Given the description of an element on the screen output the (x, y) to click on. 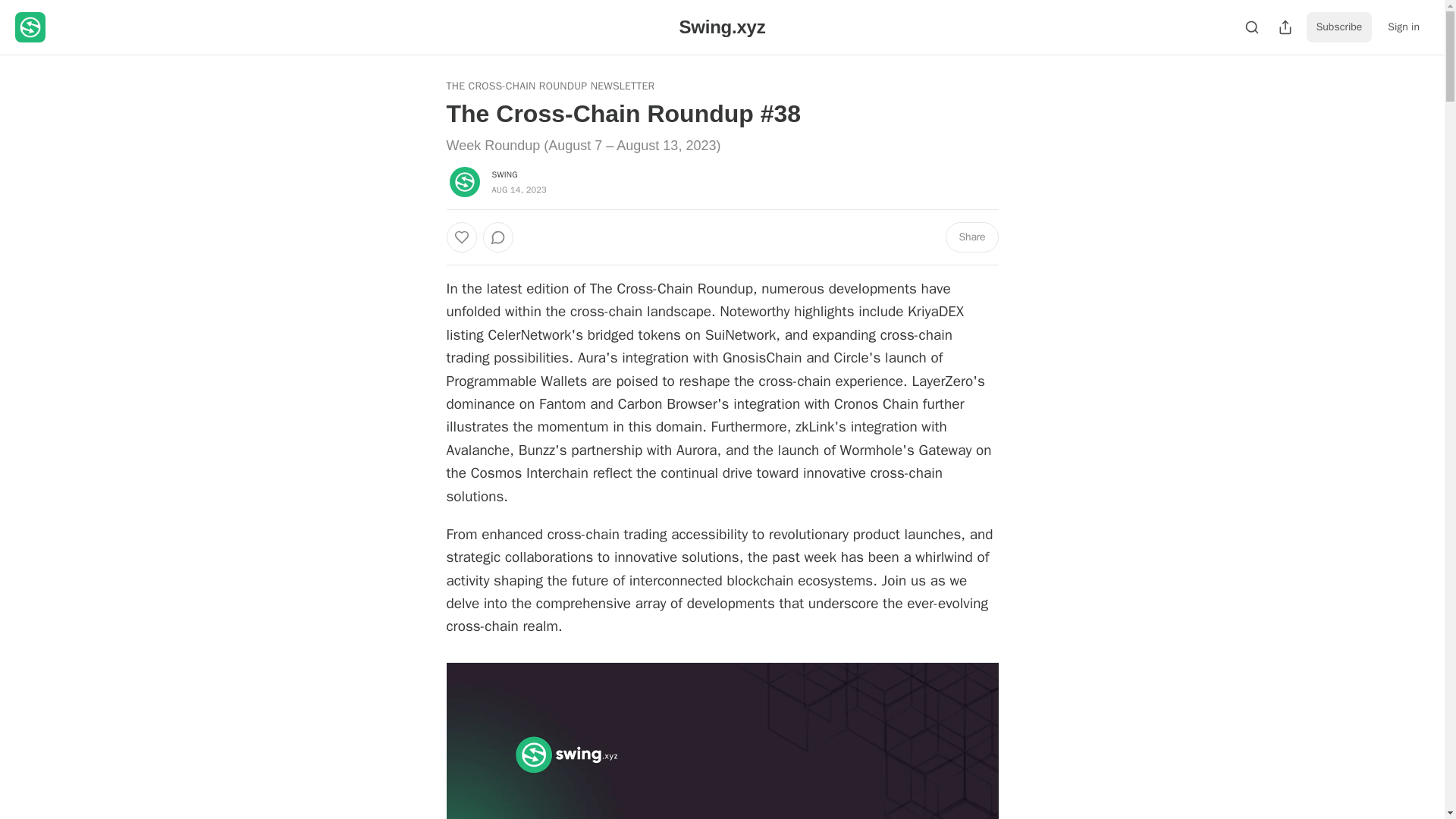
Swing.xyz (722, 26)
THE CROSS-CHAIN ROUNDUP NEWSLETTER (549, 86)
Sign in (1403, 27)
Share (970, 236)
Subscribe (1339, 27)
SWING (504, 173)
